Given the description of an element on the screen output the (x, y) to click on. 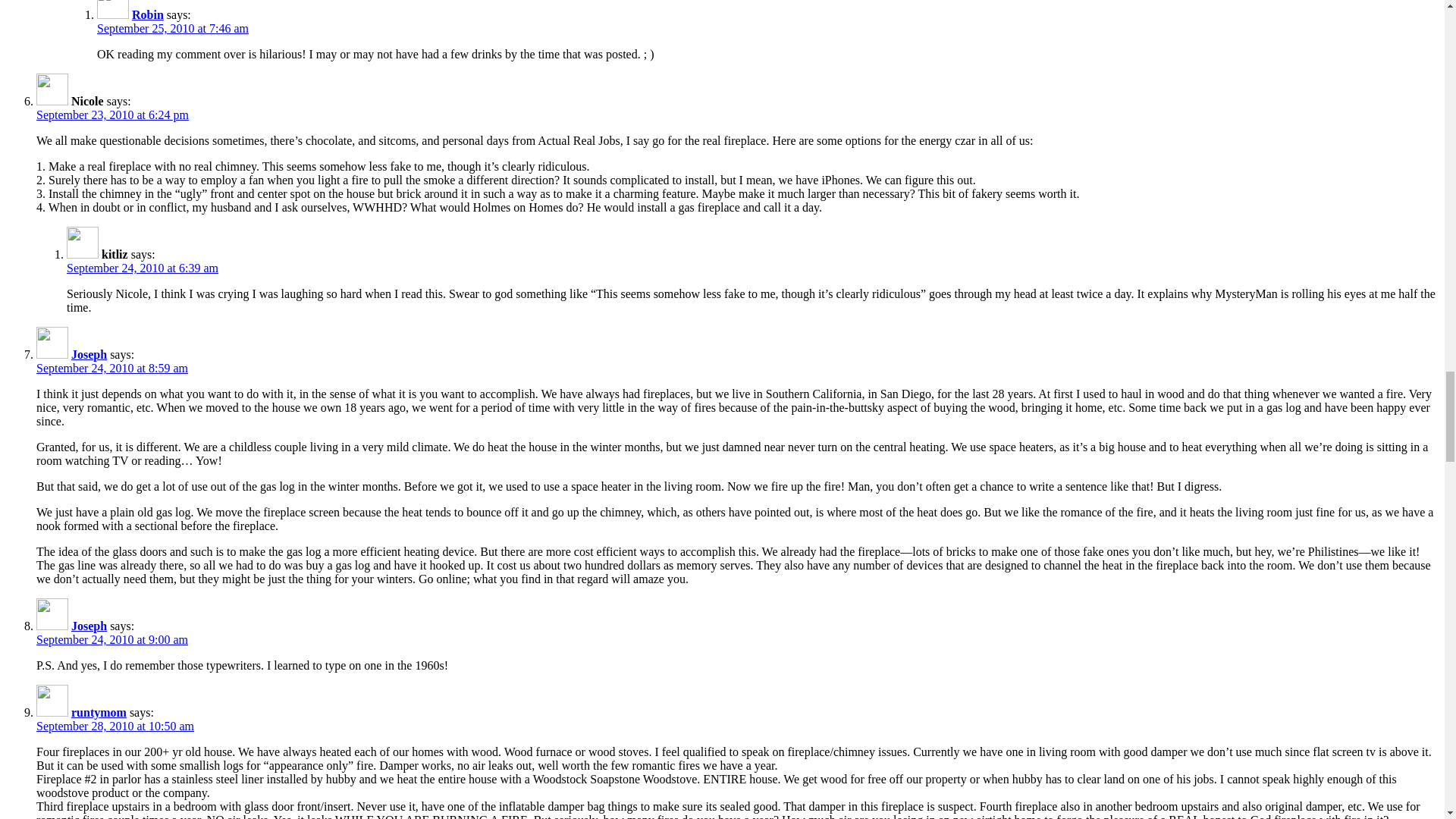
September 23, 2010 at 6:24 pm (112, 114)
Joseph (88, 354)
Robin (147, 14)
runtymom (98, 712)
Joseph (88, 625)
September 24, 2010 at 9:00 am (111, 639)
September 24, 2010 at 8:59 am (111, 367)
September 25, 2010 at 7:46 am (172, 28)
September 24, 2010 at 6:39 am (142, 267)
